Given the description of an element on the screen output the (x, y) to click on. 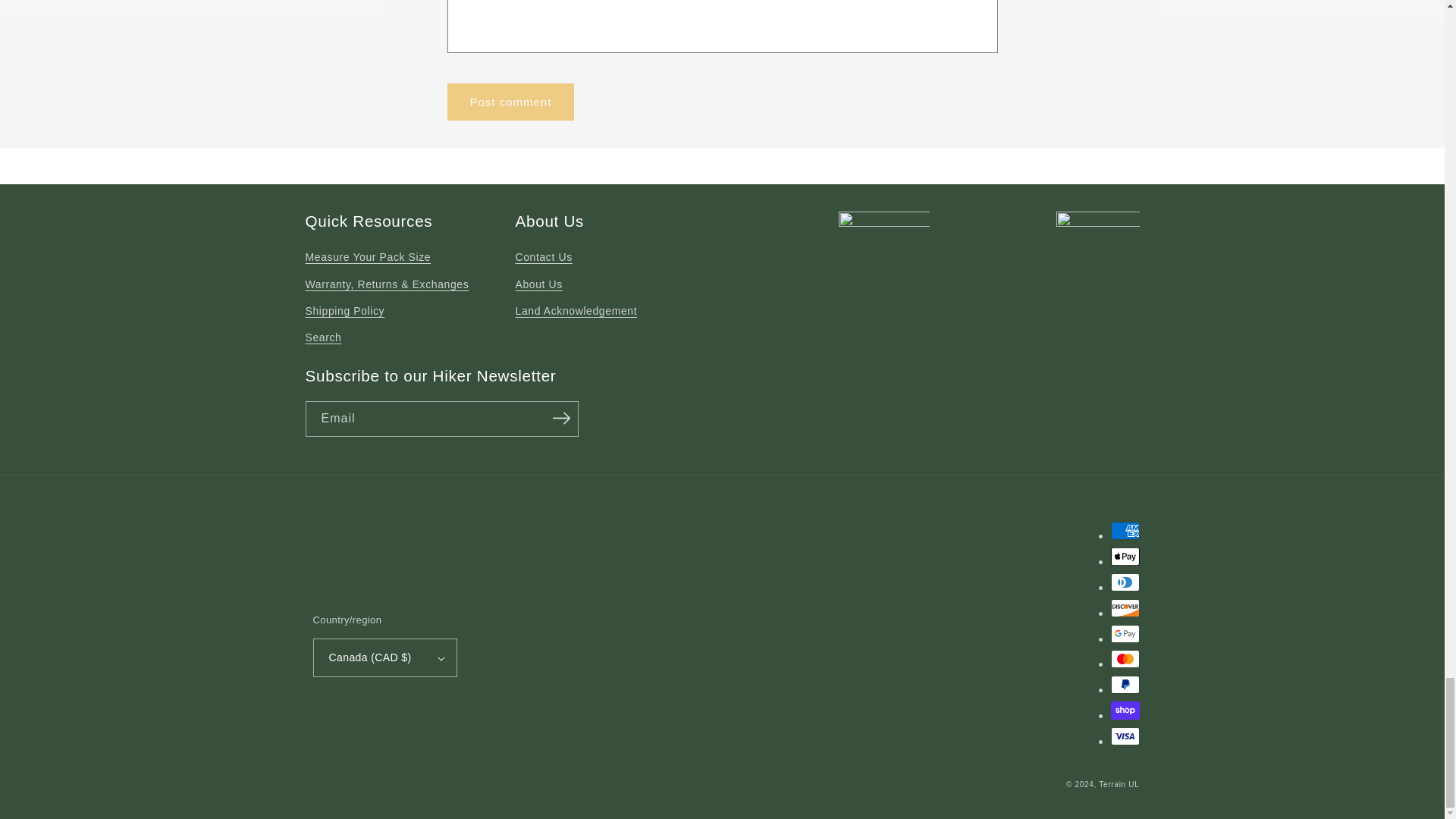
Shop Pay (1123, 710)
Apple Pay (1123, 556)
Mastercard (1123, 659)
Diners Club (1123, 582)
Post comment (510, 101)
Google Pay (1123, 633)
American Express (1123, 530)
PayPal (1123, 684)
Discover (1123, 607)
Visa (1123, 736)
